Given the description of an element on the screen output the (x, y) to click on. 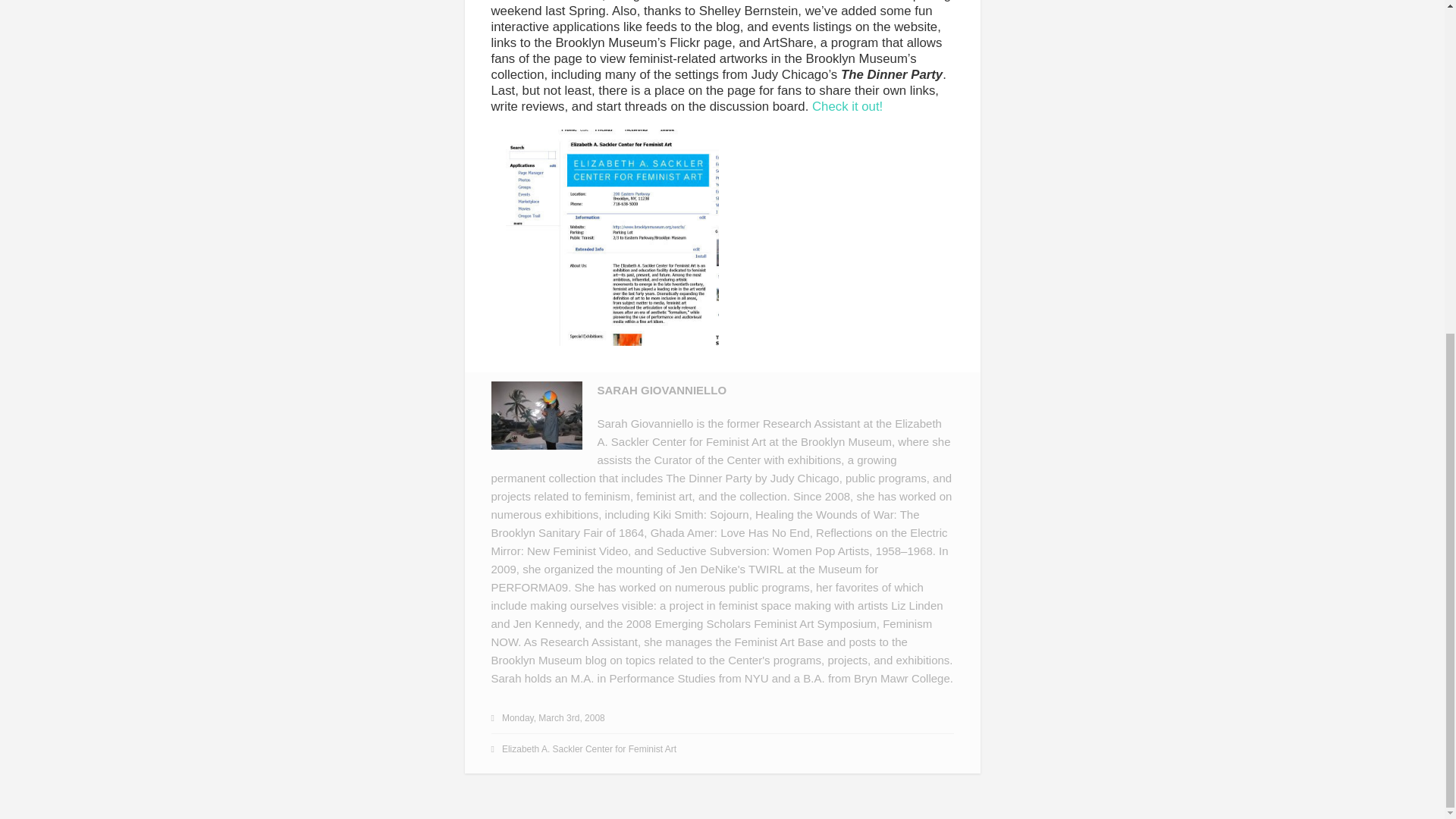
Check it out! (847, 106)
Elizabeth A. Sackler Center for Feminist Art (589, 748)
SARAH GIOVANNIELLO (661, 390)
